Given the description of an element on the screen output the (x, y) to click on. 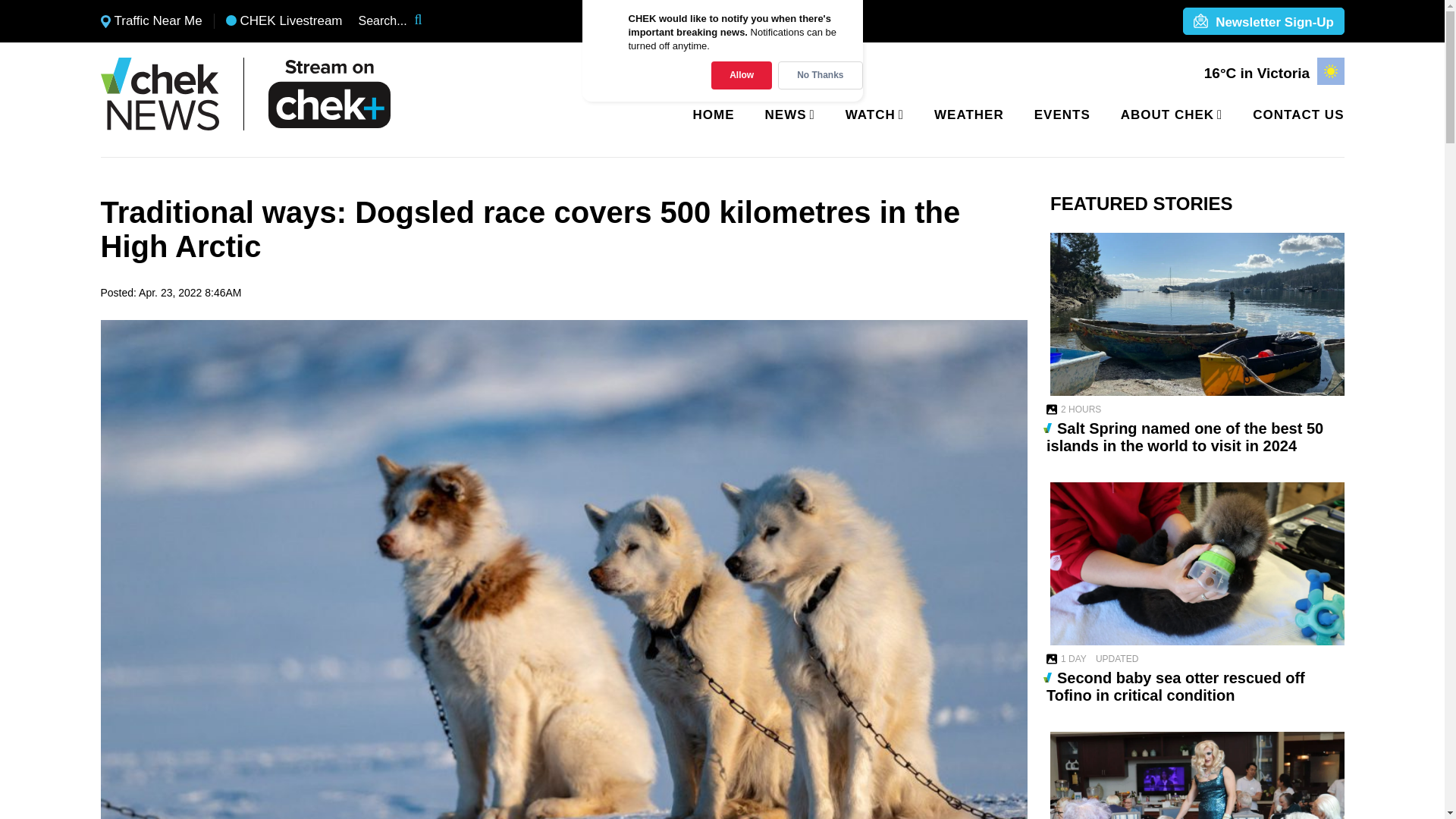
Traffic Near Me (151, 20)
HOME (714, 114)
Search (428, 21)
CHEK Livestream (283, 20)
NEWS (787, 114)
Newsletter Sign-Up (1262, 22)
